Given the description of an element on the screen output the (x, y) to click on. 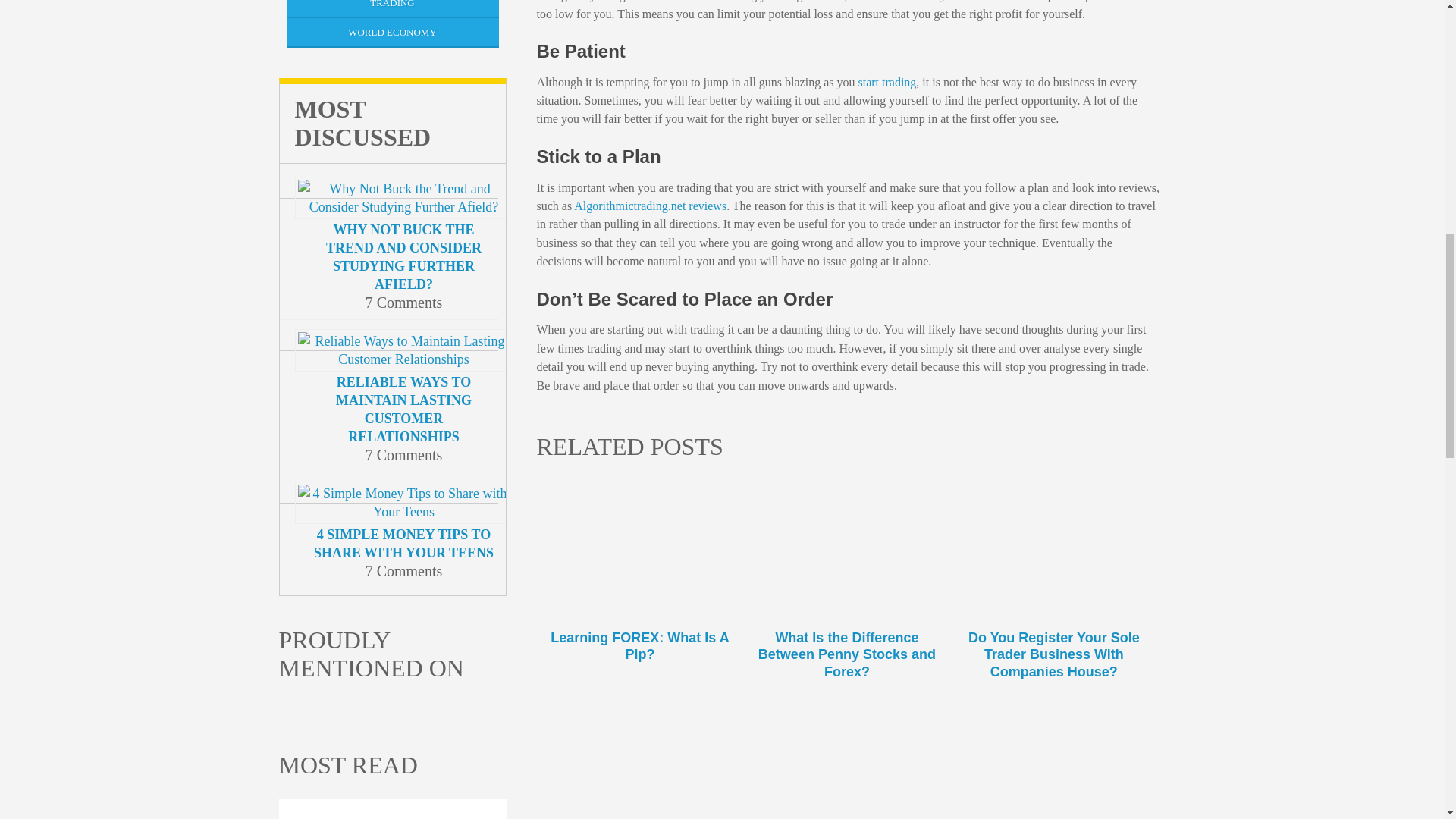
Algorithmictrading.net reviews (649, 205)
Permalink to 4 Simple Money Tips to Share with Your Teens (403, 543)
Learning FOREX: What Is A Pip? (639, 578)
start trading (886, 82)
What Is the Difference Between Penny Stocks and Forex? (846, 578)
